Given the description of an element on the screen output the (x, y) to click on. 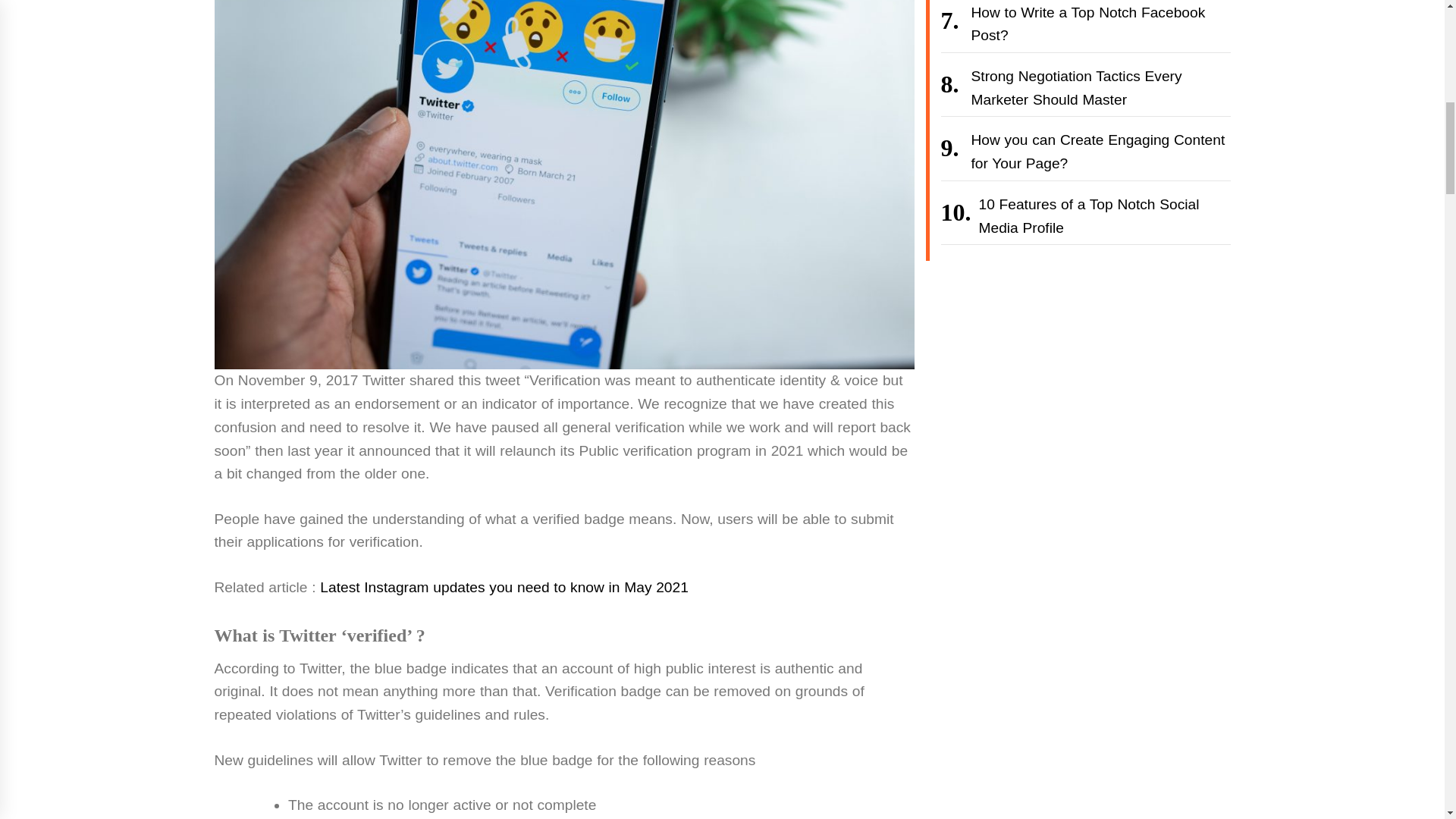
Latest Instagram updates you need to know in May 2021 (504, 587)
